Given the description of an element on the screen output the (x, y) to click on. 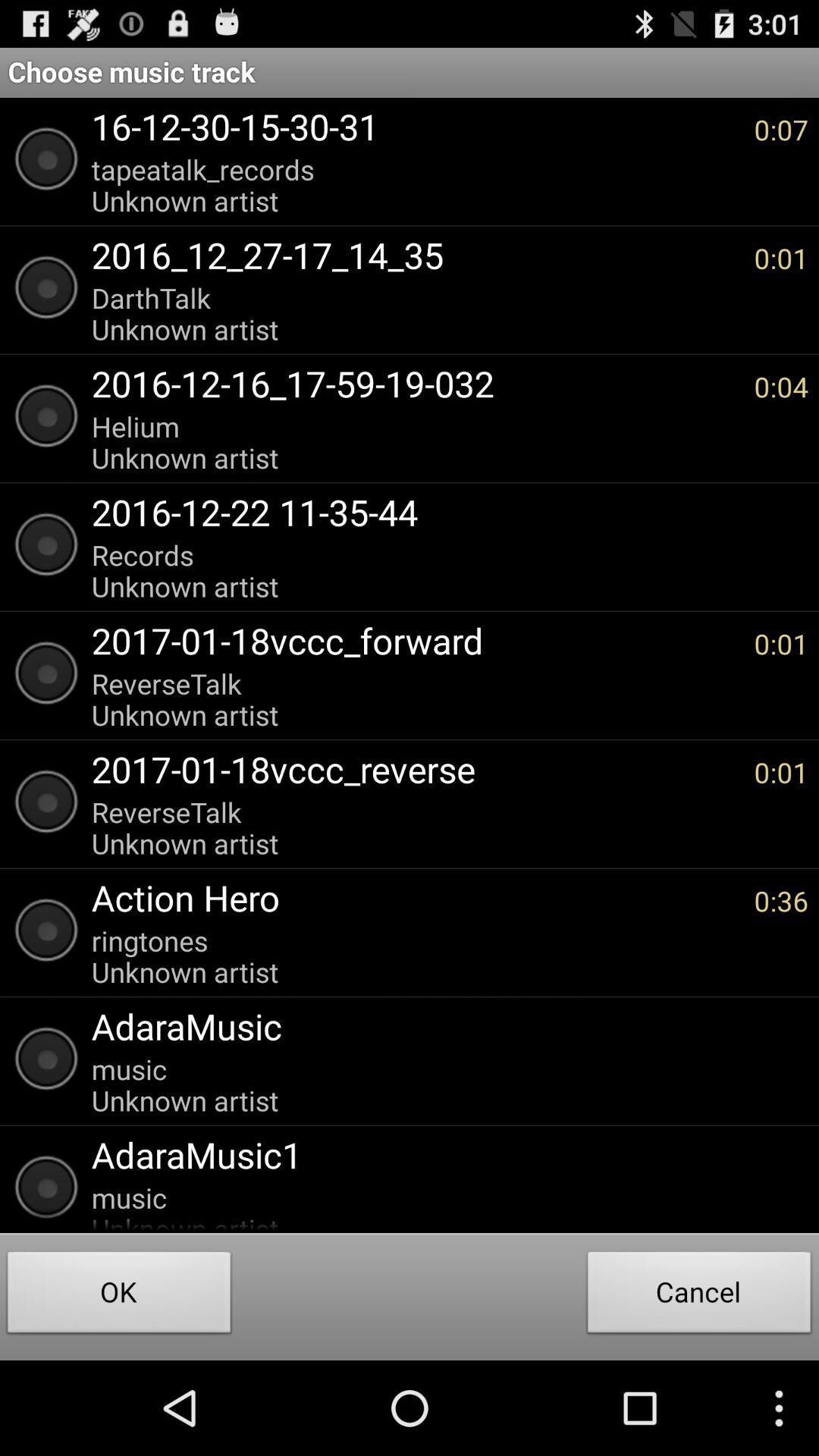
swipe until the adaramusic1 (441, 1154)
